Given the description of an element on the screen output the (x, y) to click on. 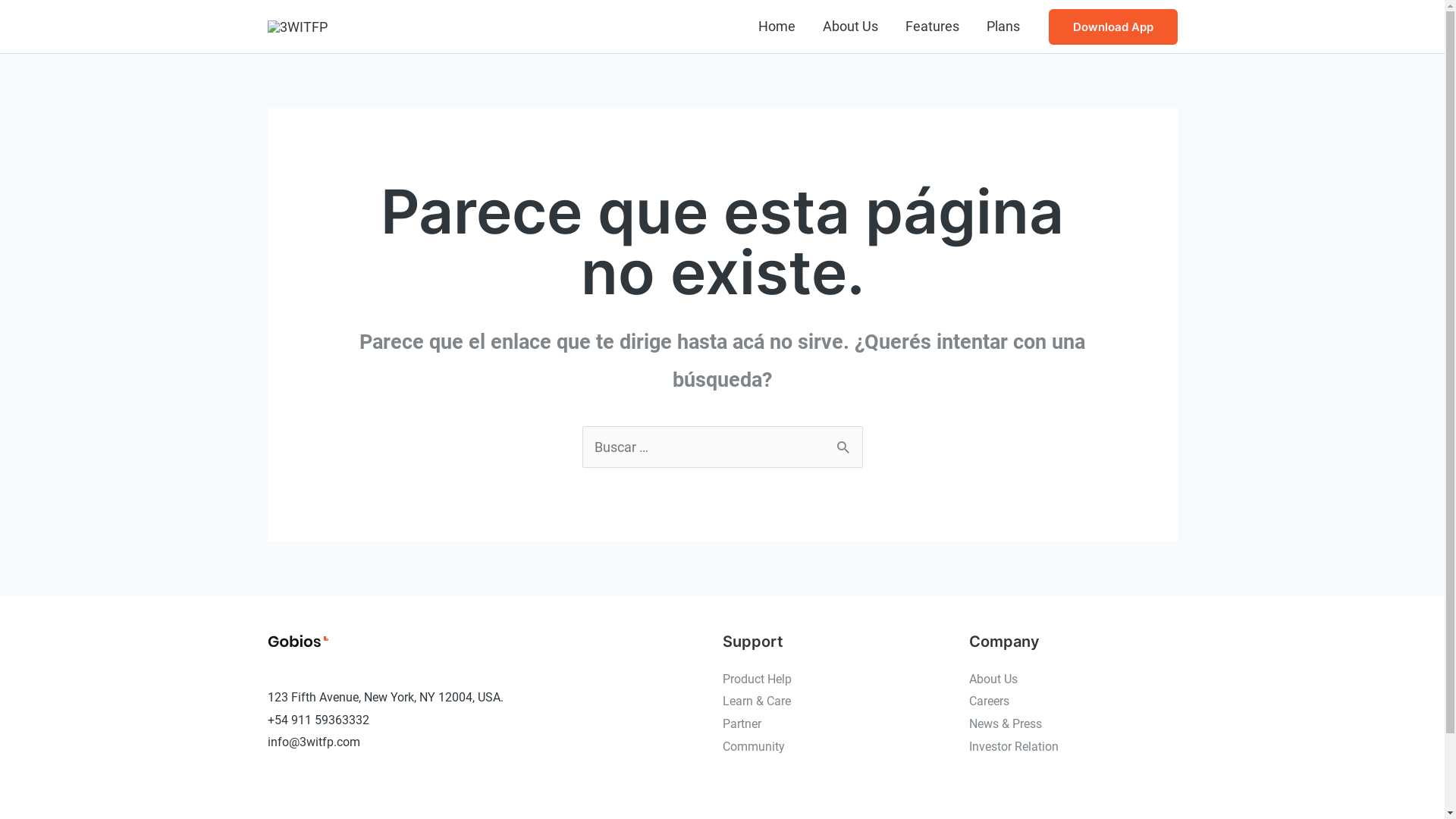
Partner Element type: text (740, 723)
Product Help Element type: text (755, 678)
Features Element type: text (931, 26)
Buscar Element type: text (845, 441)
About Us Element type: text (849, 26)
Careers Element type: text (989, 700)
Download App Element type: text (1112, 26)
Learn & Care Element type: text (755, 700)
About Us Element type: text (993, 678)
News & Press Element type: text (1005, 723)
Investor Relation Element type: text (1013, 746)
Home Element type: text (776, 26)
Community Element type: text (752, 746)
Plans Element type: text (1002, 26)
